Given the description of an element on the screen output the (x, y) to click on. 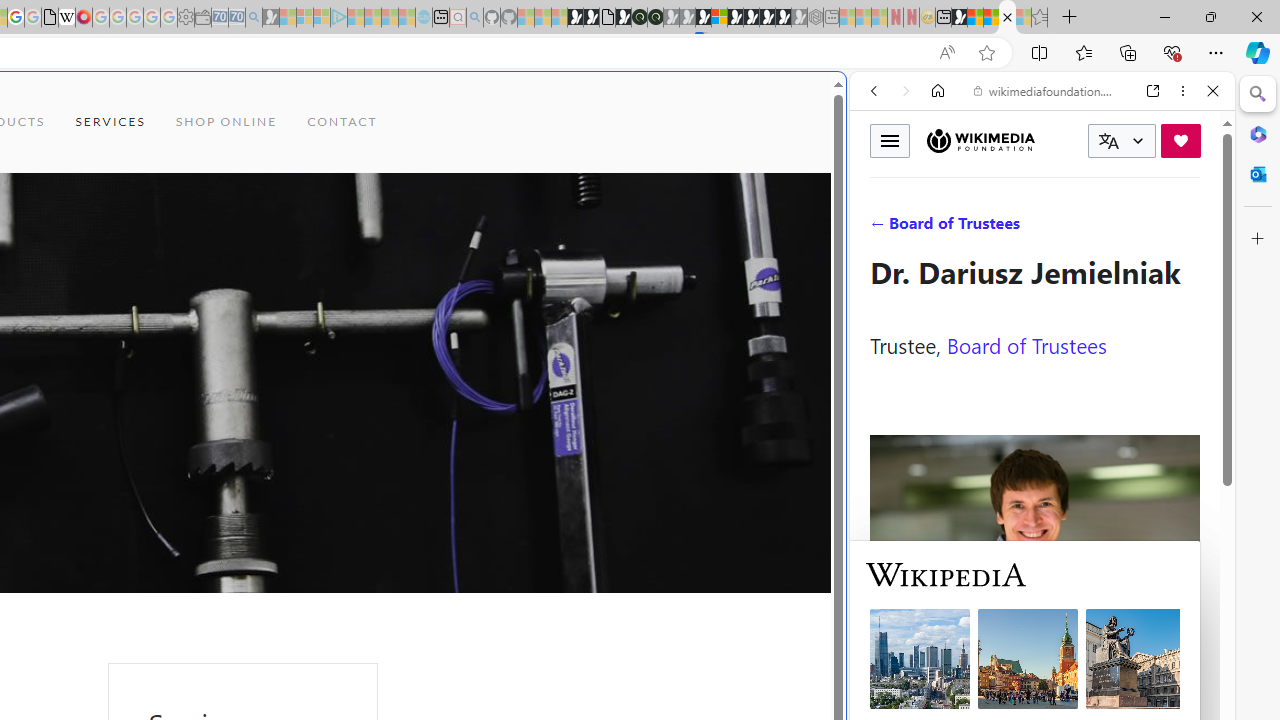
This site scope (936, 180)
Class: i icon icon-translate language-switcher__icon (1108, 141)
Future Focus Report 2024 (655, 17)
Sign in to your account (719, 17)
Wallet - Sleeping (202, 17)
CURRENT LANGUAGE: (1121, 141)
Bing Real Estate - Home sales and rental listings - Sleeping (253, 17)
